Given the description of an element on the screen output the (x, y) to click on. 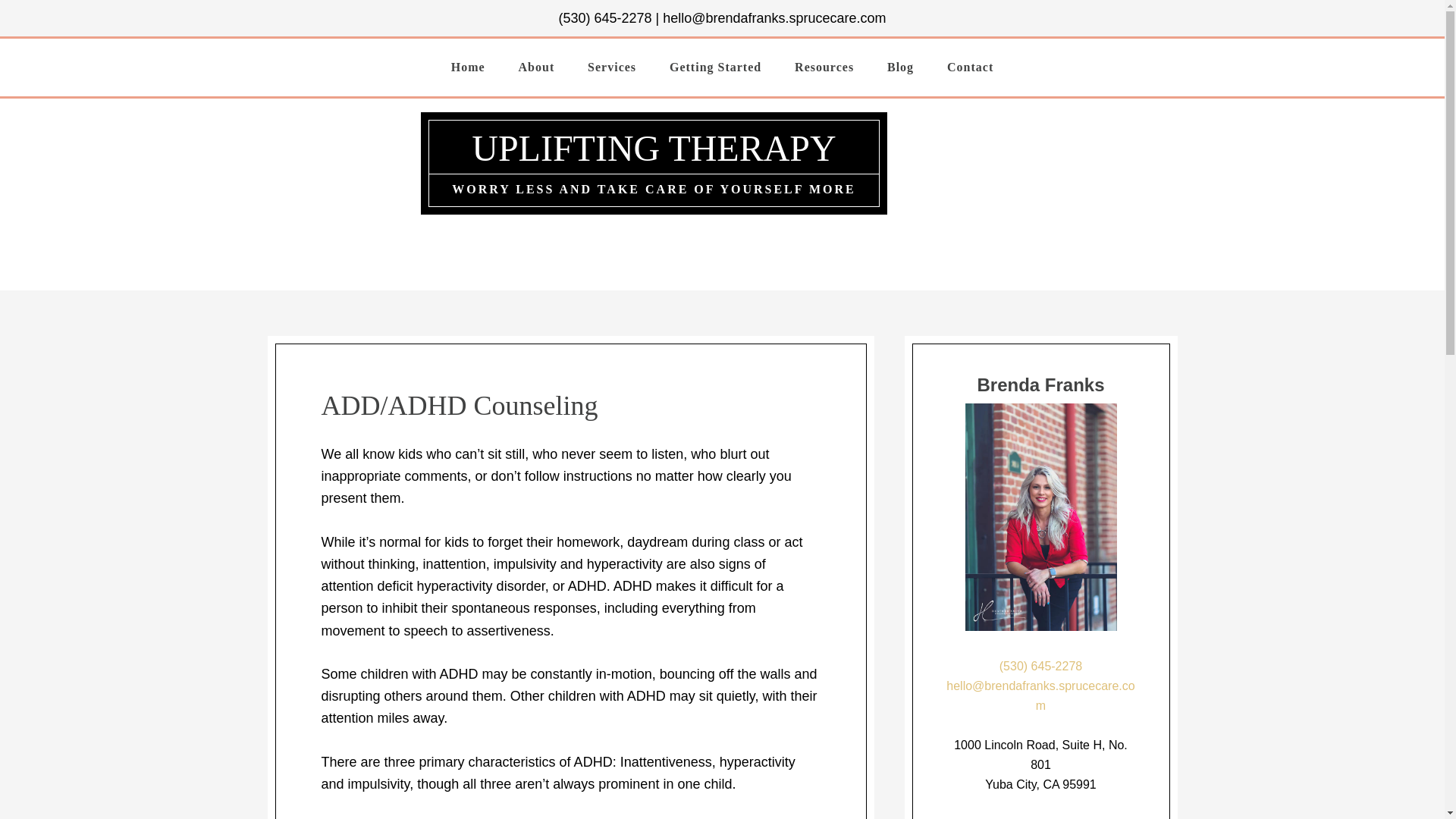
Resources (823, 67)
Blog (900, 67)
Home (467, 67)
Services (611, 67)
Getting Started (714, 67)
UPLIFTING THERAPY (653, 147)
About (536, 67)
Contact (970, 67)
